Given the description of an element on the screen output the (x, y) to click on. 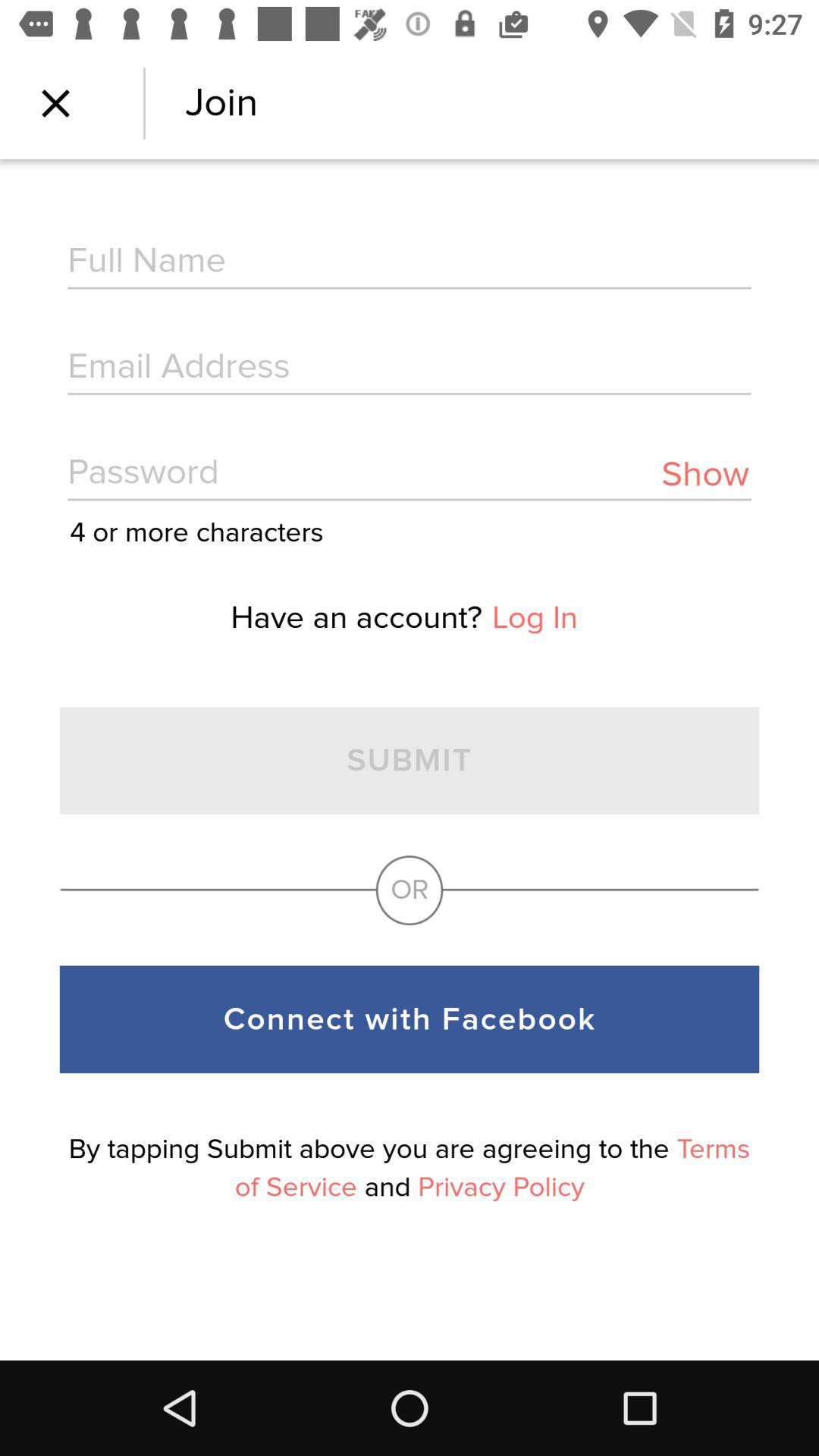
turn on the log in (535, 618)
